Given the description of an element on the screen output the (x, y) to click on. 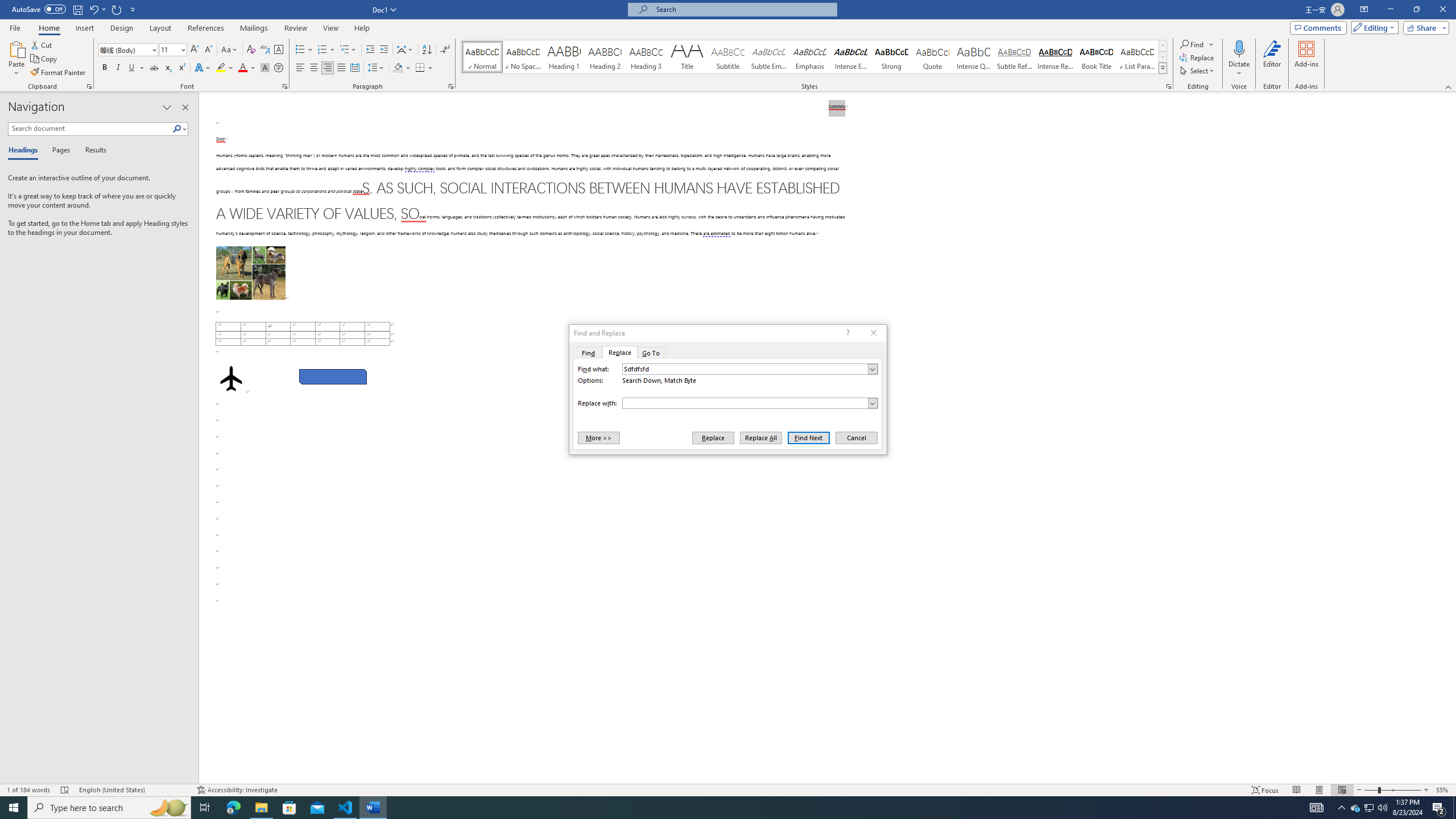
Quick Access Toolbar (74, 9)
Comments (1318, 27)
Heading 3 (646, 56)
Heading 1 (564, 56)
Shading (402, 67)
Quote (932, 56)
Styles (1162, 67)
Mode (1372, 27)
Numbering (326, 49)
Font Size (169, 49)
Paste (16, 48)
Find (1197, 44)
Morphological variation in six dogs (250, 272)
